Given the description of an element on the screen output the (x, y) to click on. 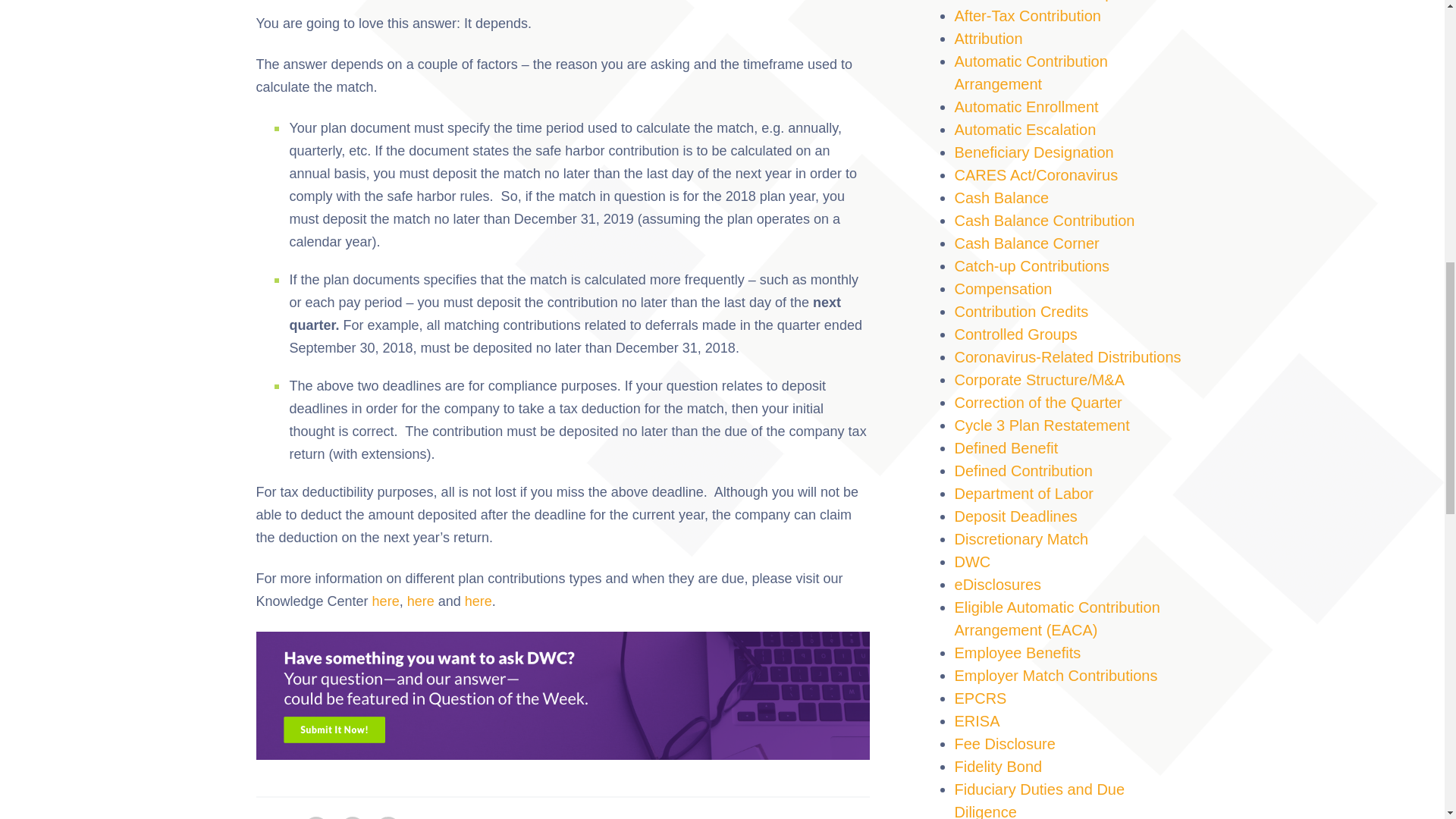
Share on Facebook (352, 817)
Share on LinkedIn (316, 817)
